Given the description of an element on the screen output the (x, y) to click on. 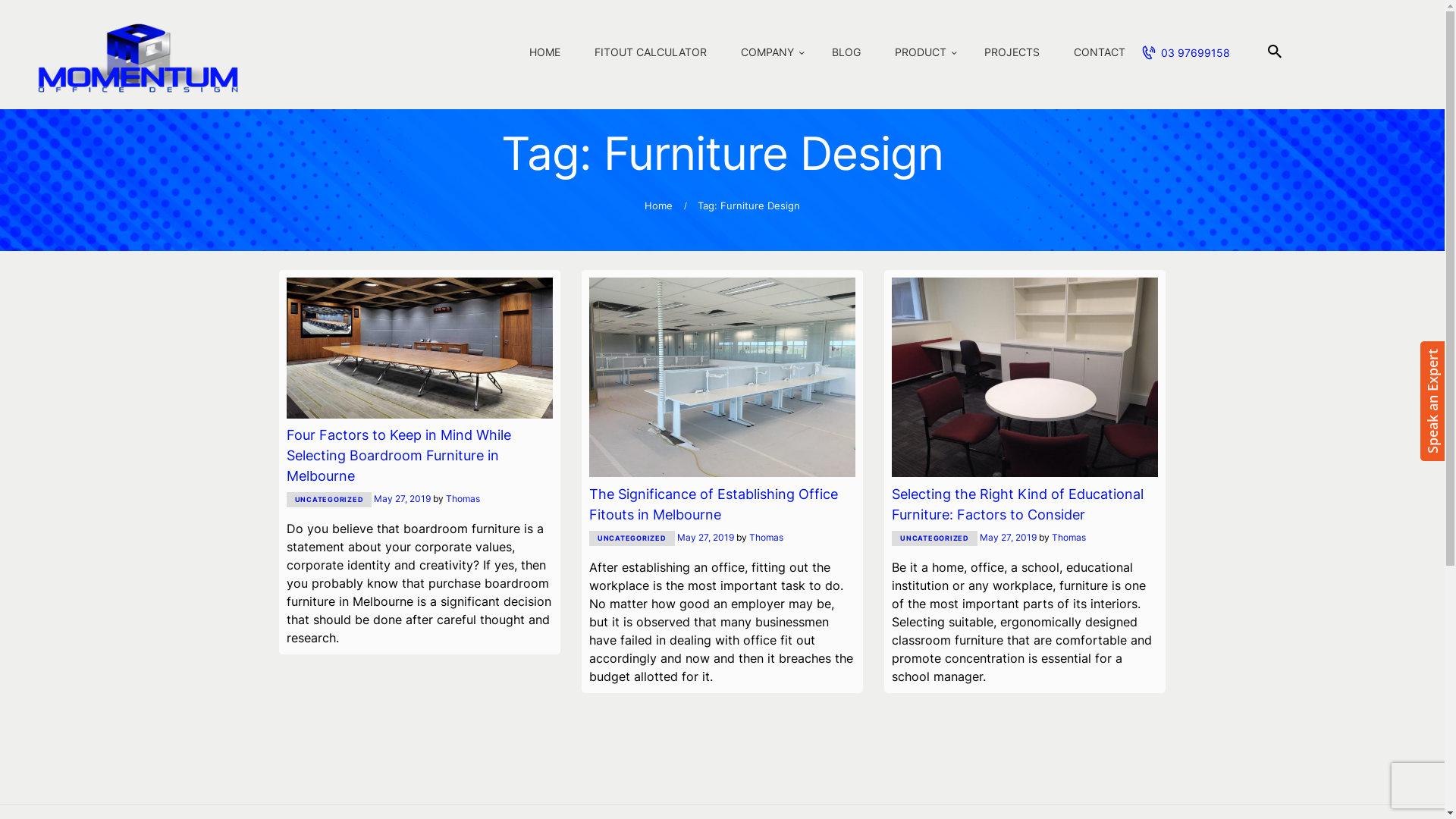
03 97699158 Element type: text (1186, 52)
May 27, 2019 Element type: text (401, 498)
May 27, 2019 Element type: text (705, 536)
HOME Element type: text (544, 52)
Home Element type: text (658, 205)
UNCATEGORIZED Element type: text (631, 538)
CONTACT Element type: text (1099, 52)
The Significance of Establishing Office Fitouts in Melbourne Element type: text (722, 503)
FITOUT CALCULATOR Element type: text (650, 52)
PROJECTS Element type: text (1012, 52)
May 27, 2019 Element type: text (1007, 536)
PRODUCT Element type: text (921, 52)
Thomas Element type: text (1068, 536)
COMPANY Element type: text (768, 52)
Thomas Element type: text (766, 536)
UNCATEGORIZED Element type: text (329, 500)
UNCATEGORIZED Element type: text (934, 538)
Thomas Element type: text (462, 498)
BLOG Element type: text (846, 52)
